Given the description of an element on the screen output the (x, y) to click on. 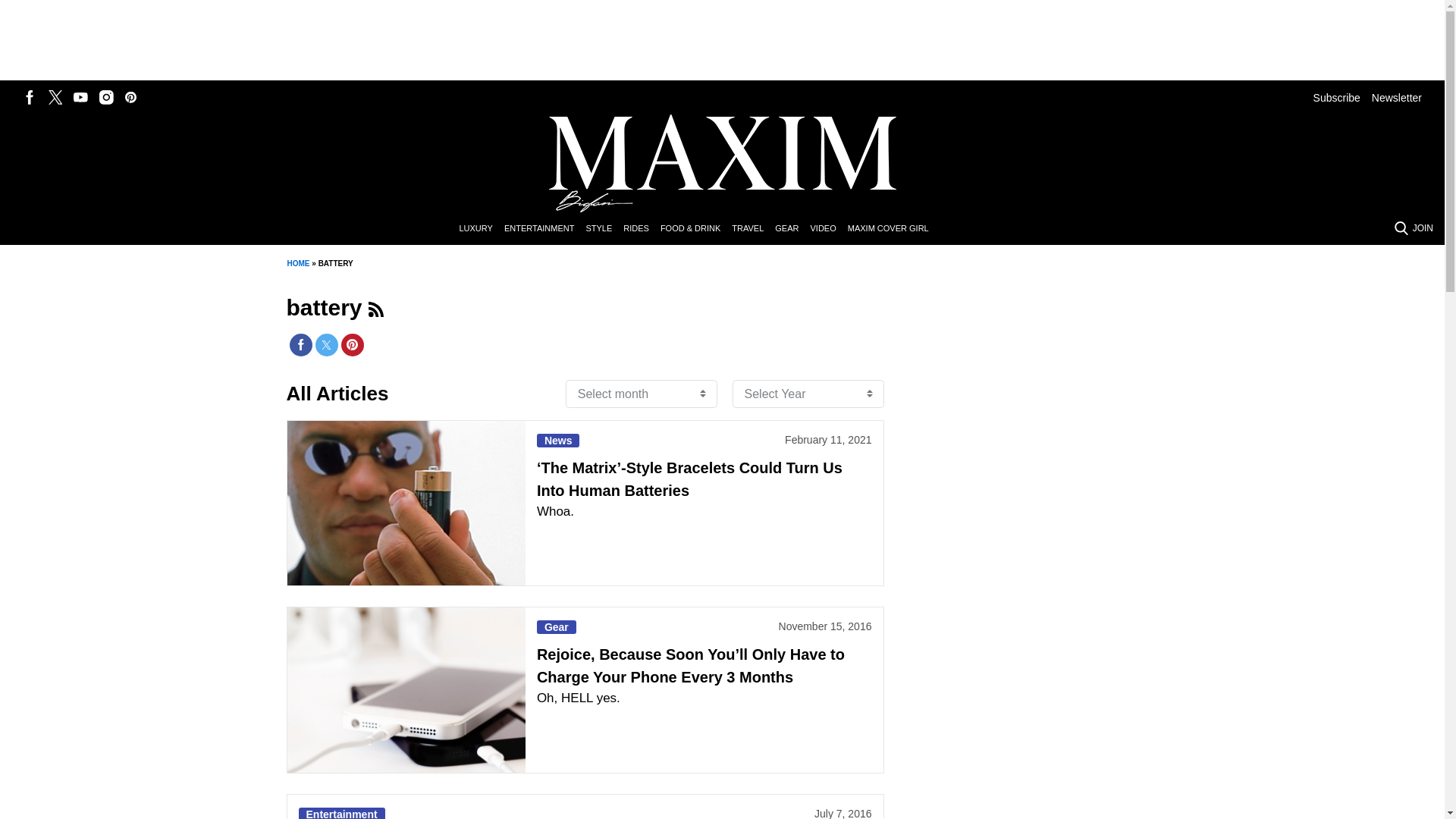
GEAR (791, 228)
RIDES (642, 228)
TRAVEL (753, 228)
HOME (297, 263)
Follow us on Youtube (80, 97)
MAXIM COVER GIRL (893, 228)
VIDEO (828, 228)
Follow us on Facebook (30, 97)
Share on Twitter (326, 344)
Share on Pinterest (352, 344)
Subscribe (1336, 97)
LUXURY (480, 228)
Newsletter (1396, 97)
ENTERTAINMENT (544, 228)
Follow us on Instagram (106, 97)
